Given the description of an element on the screen output the (x, y) to click on. 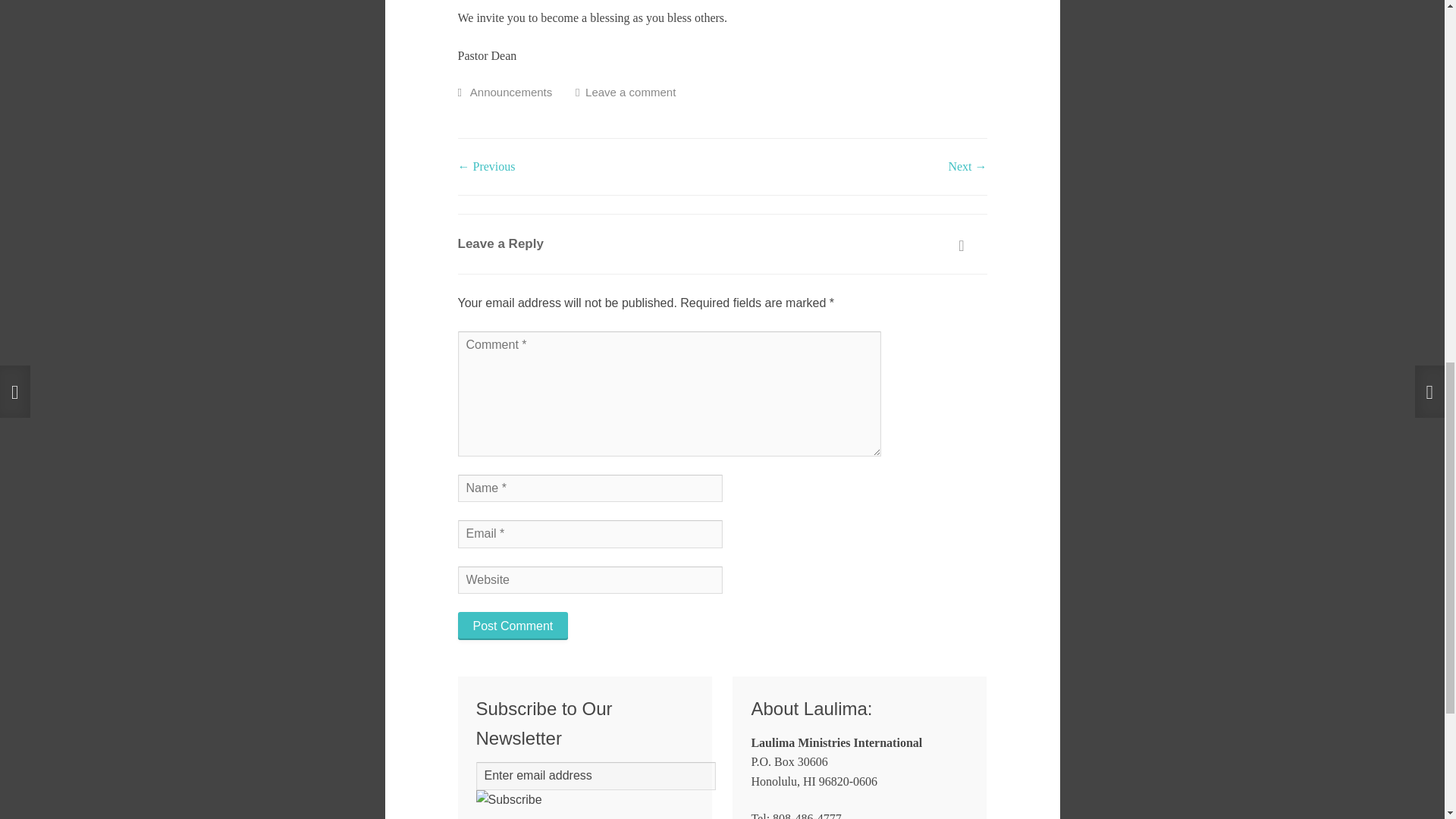
Subscribe to Laulima Ministries International''s Newsletter (508, 799)
Post Comment (513, 625)
Announcements (510, 91)
Subscribe (508, 799)
Leave a comment (630, 91)
Post Comment (513, 625)
Enter email address (596, 776)
